Given the description of an element on the screen output the (x, y) to click on. 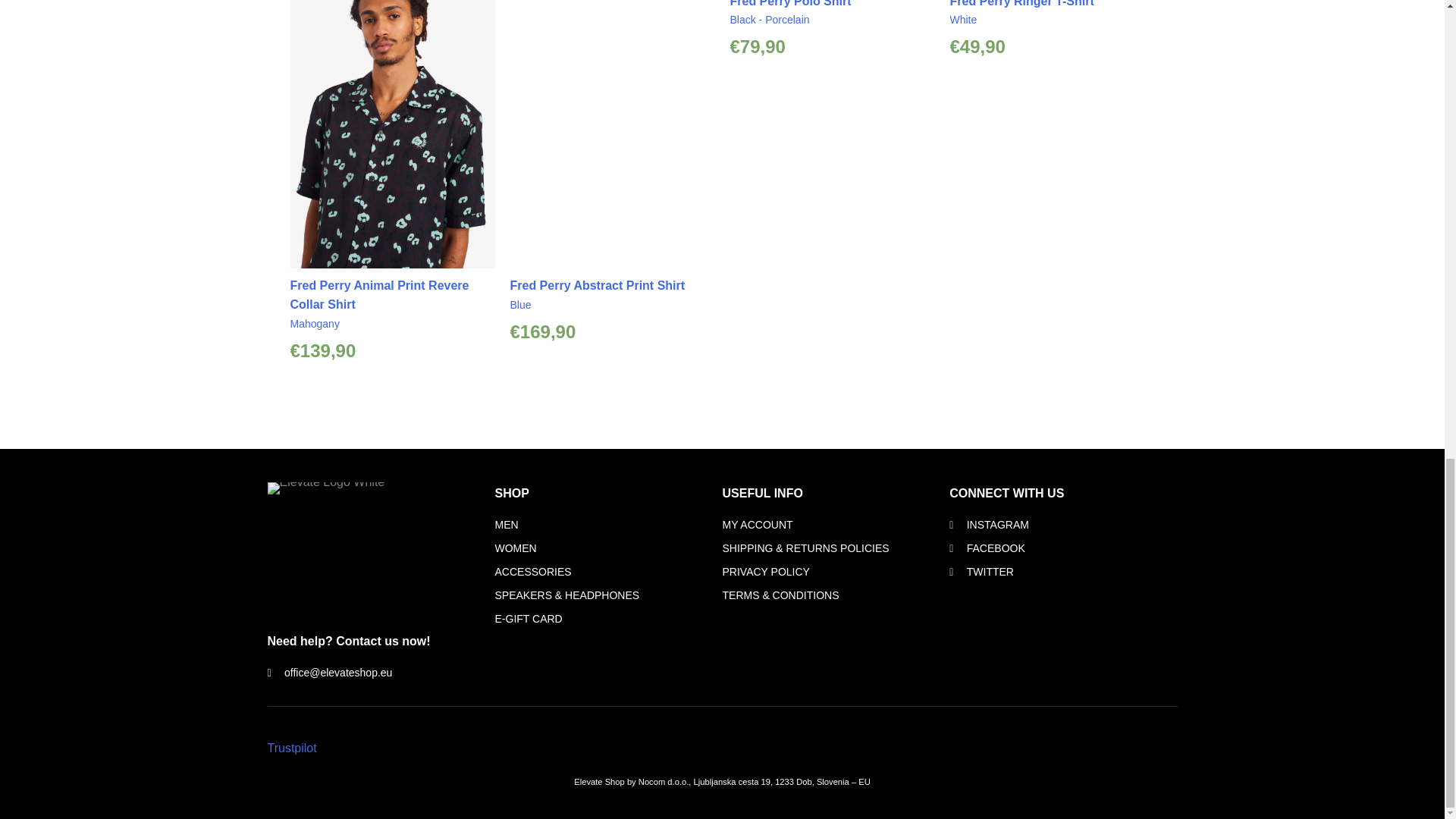
Black - Porcelain (769, 19)
ACCESSORIES (608, 572)
Fred Perry Polo Shirt (789, 3)
WOMEN (608, 548)
White (962, 19)
Mahogany (314, 323)
E-GIFT CARD (608, 619)
MY ACCOUNT (835, 525)
MEN (608, 525)
Blue (520, 304)
Fred Perry Ringer T-Shirt (1021, 3)
Fred Perry Abstract Print Shirt (596, 285)
Fred Perry Animal Print Revere Collar Shirt (378, 295)
